Given the description of an element on the screen output the (x, y) to click on. 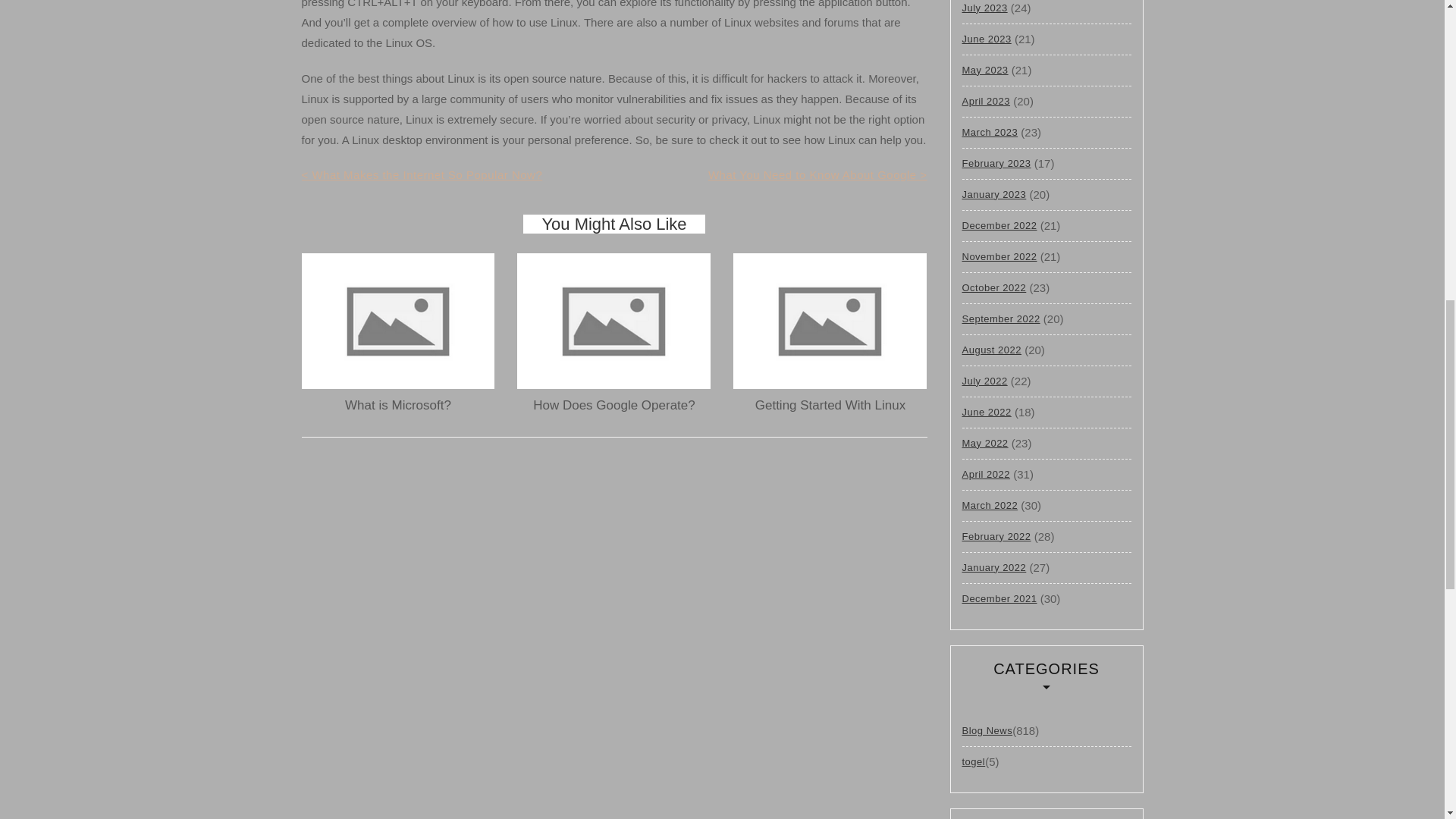
July 2023 (983, 11)
March 2023 (988, 132)
February 2023 (995, 163)
May 2023 (983, 69)
Getting Started With Linux (830, 405)
December 2022 (998, 225)
January 2023 (993, 194)
What is Microsoft? (398, 405)
June 2023 (985, 39)
April 2023 (985, 101)
